Given the description of an element on the screen output the (x, y) to click on. 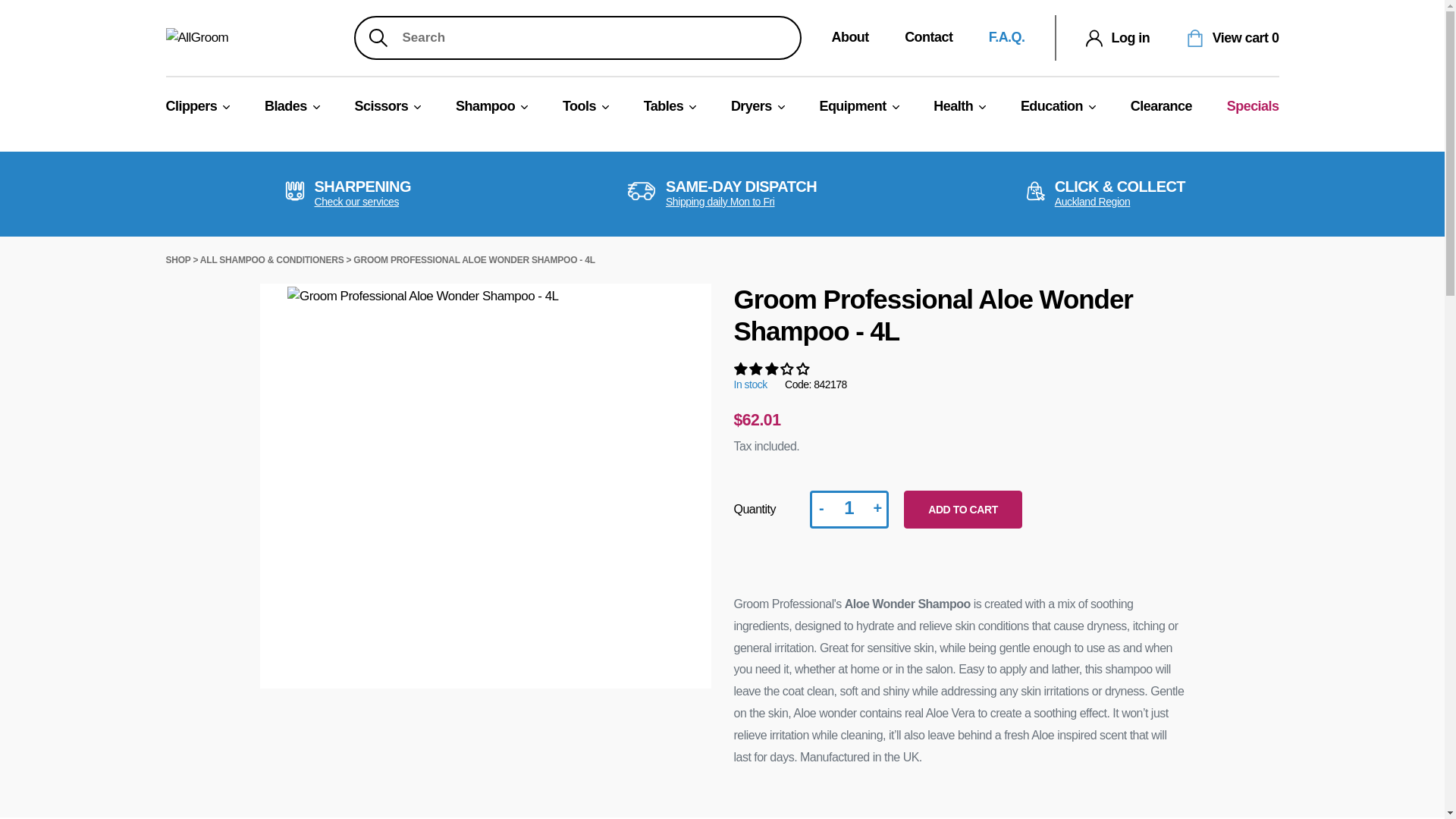
Log in (1118, 36)
F.A.Q. (1006, 37)
About (849, 37)
Contact (928, 37)
1 (848, 509)
View cart 0 (1232, 36)
